Given the description of an element on the screen output the (x, y) to click on. 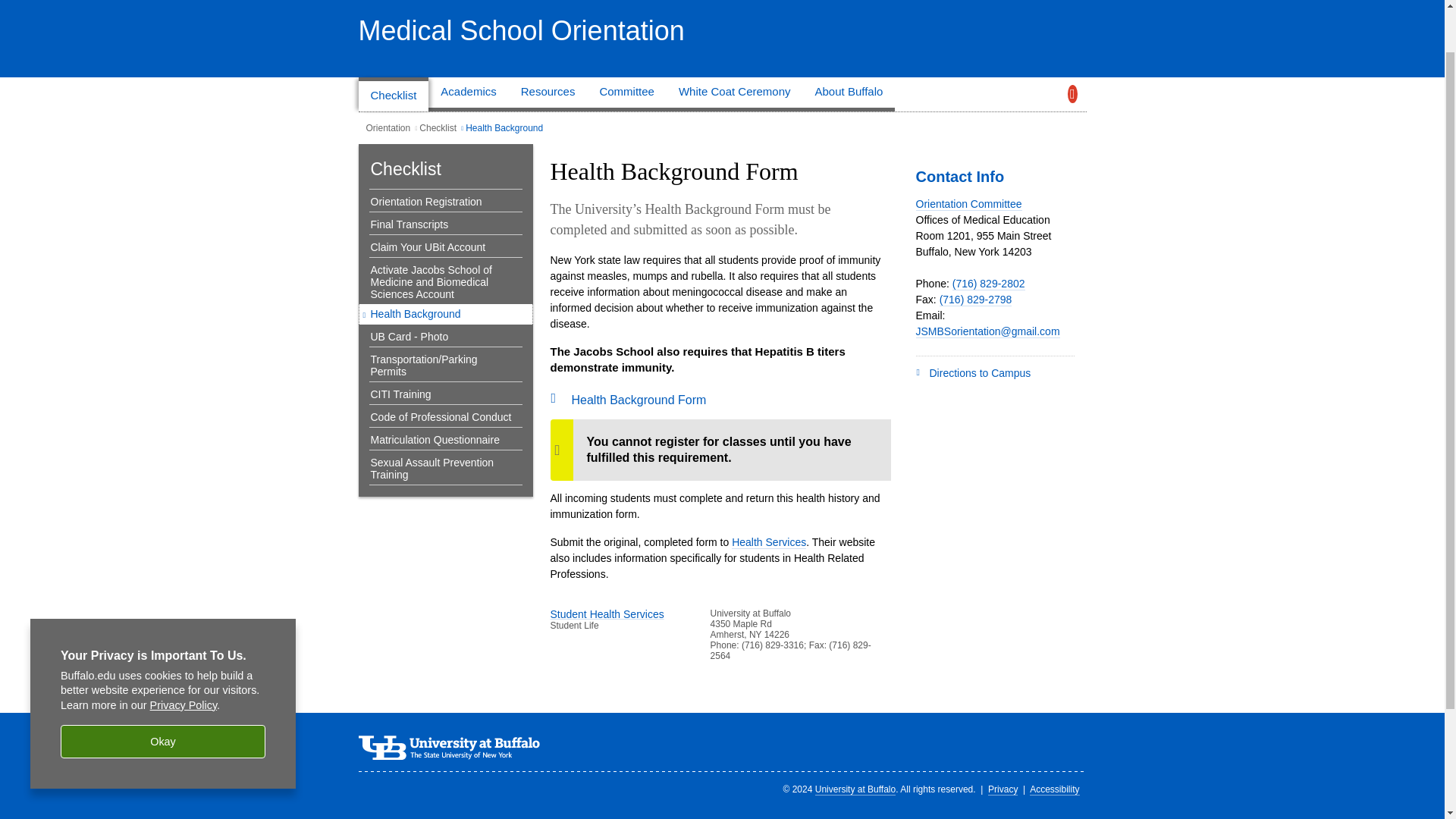
Checklist (393, 93)
Orientation (387, 127)
Resources (548, 93)
White Coat Ceremony (734, 93)
Medical School Orientation (521, 30)
About Buffalo (849, 93)
Academics (468, 93)
Committee (626, 93)
